Given the description of an element on the screen output the (x, y) to click on. 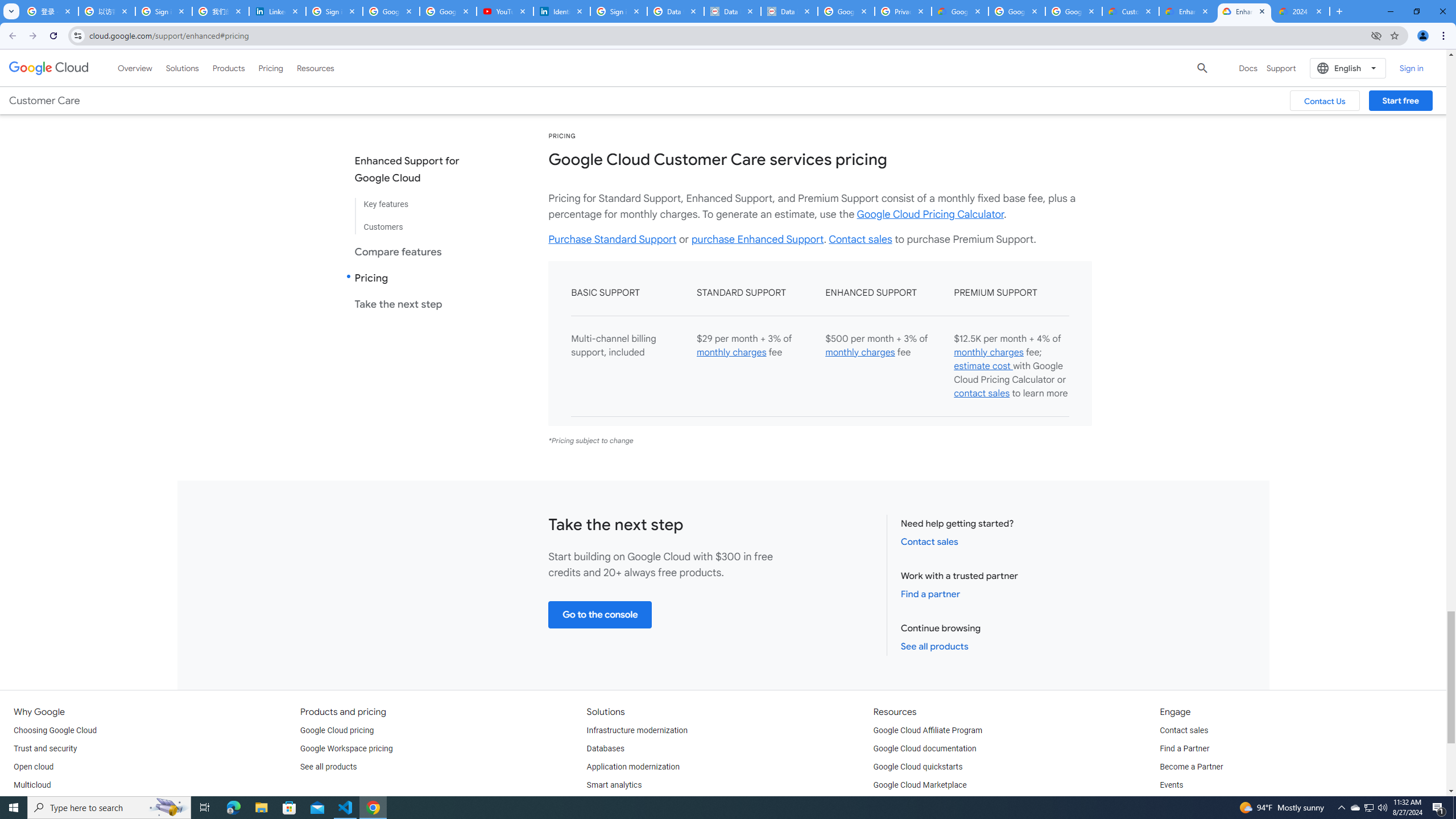
Start free (1400, 100)
View site information (77, 35)
Solutions (181, 67)
Choosing Google Cloud (55, 730)
Compare features (416, 251)
Sign in - Google Accounts (618, 11)
Address and search bar (726, 35)
Resources (314, 67)
Third-party cookies blocked (1376, 35)
Purchase Standard Support (612, 238)
Customer Care | Google Cloud (1130, 11)
Overview (135, 67)
